Given the description of an element on the screen output the (x, y) to click on. 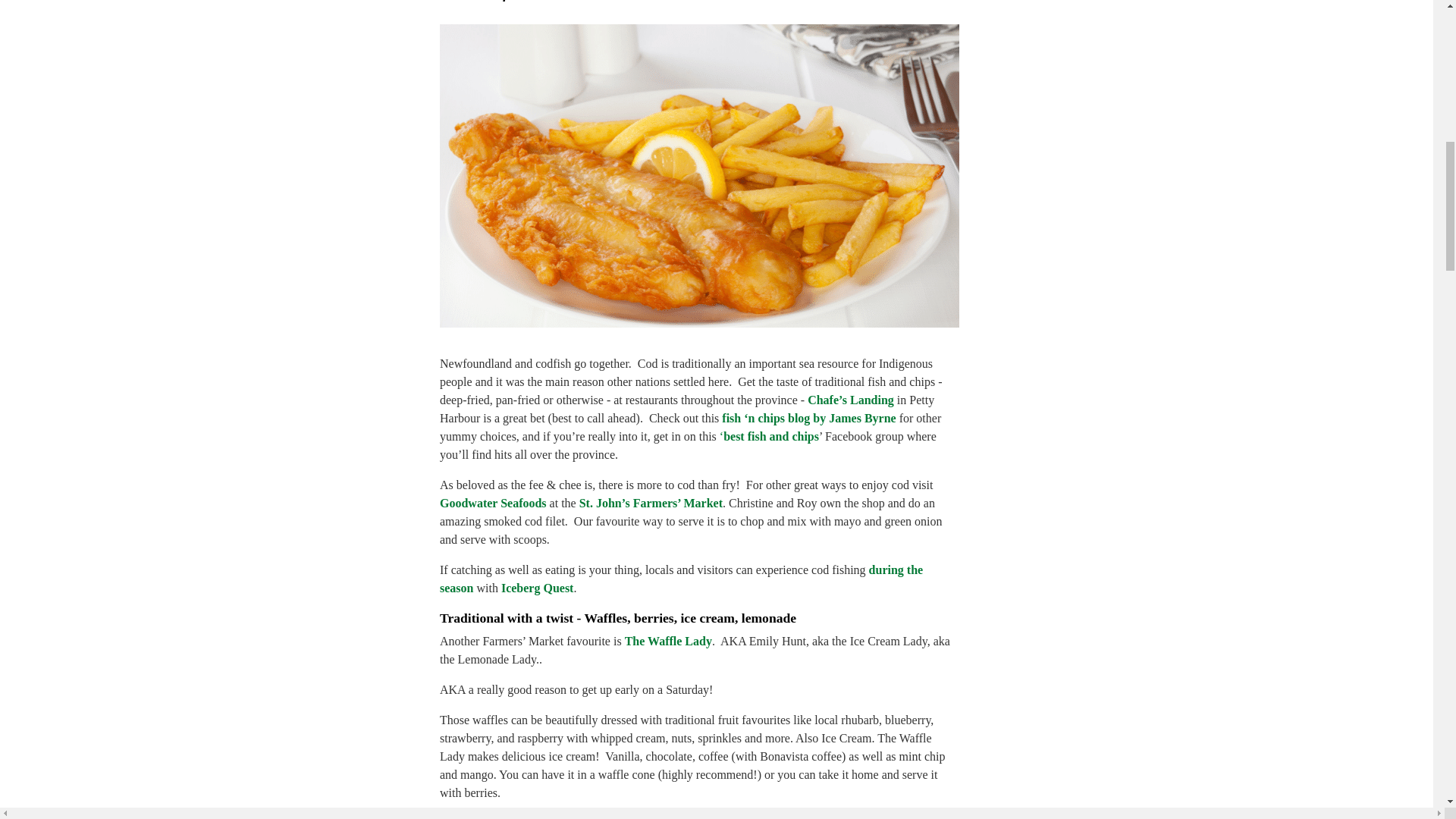
Iceberg Quest (536, 587)
Goodwater Seafoods (493, 502)
during the season (681, 578)
The Waffle Lady (667, 640)
